Given the description of an element on the screen output the (x, y) to click on. 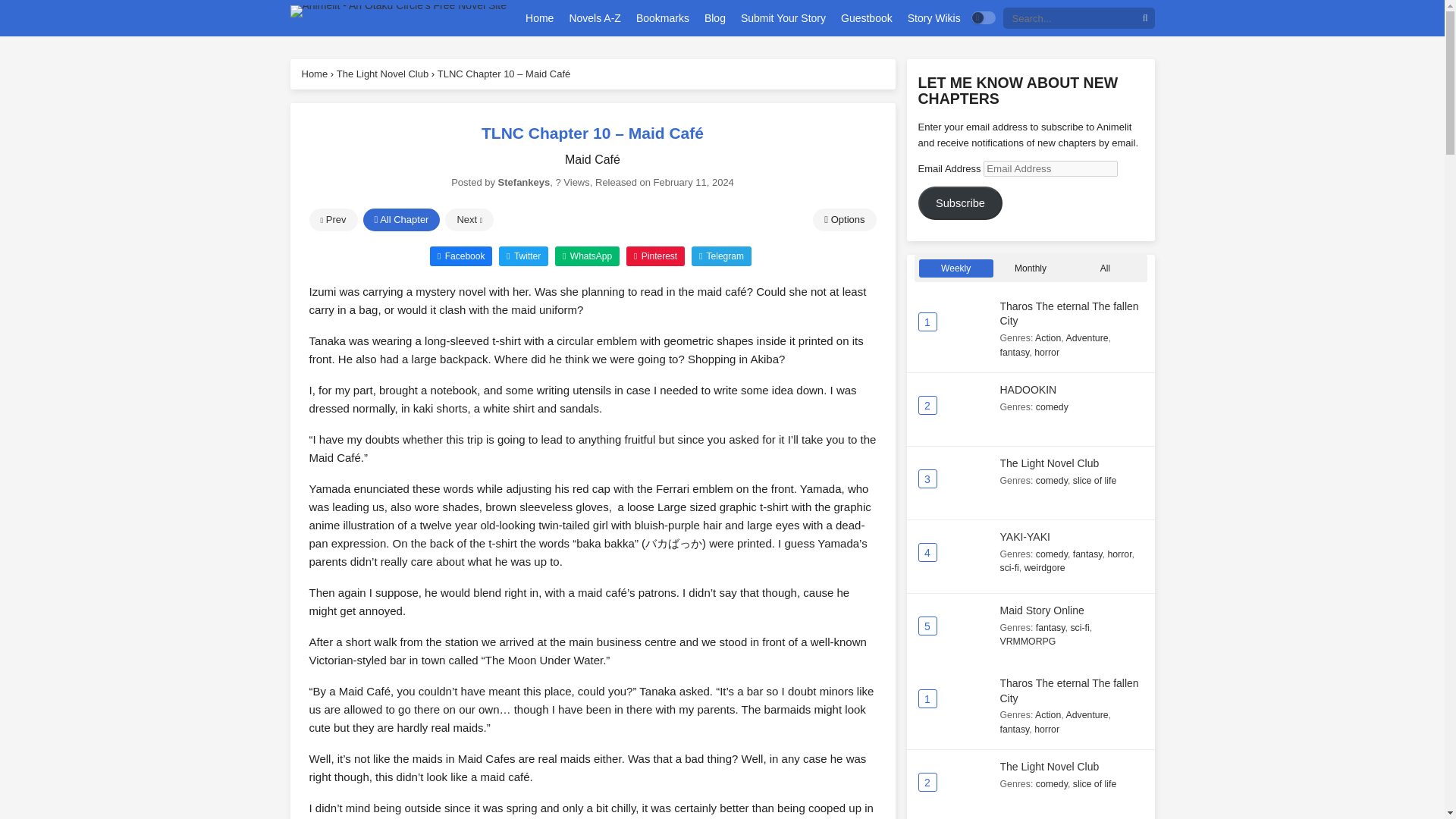
fantasy (1013, 352)
Submit Your Story (782, 18)
Bookmarks (662, 18)
Animelit - An Otaku Circle's Free Novel Site (397, 10)
Pinterest (655, 255)
HADOOKIN (1027, 389)
Tharos The eternal The fallen City (1068, 313)
Next (469, 219)
Telegram (721, 255)
WhatsApp (587, 255)
